Given the description of an element on the screen output the (x, y) to click on. 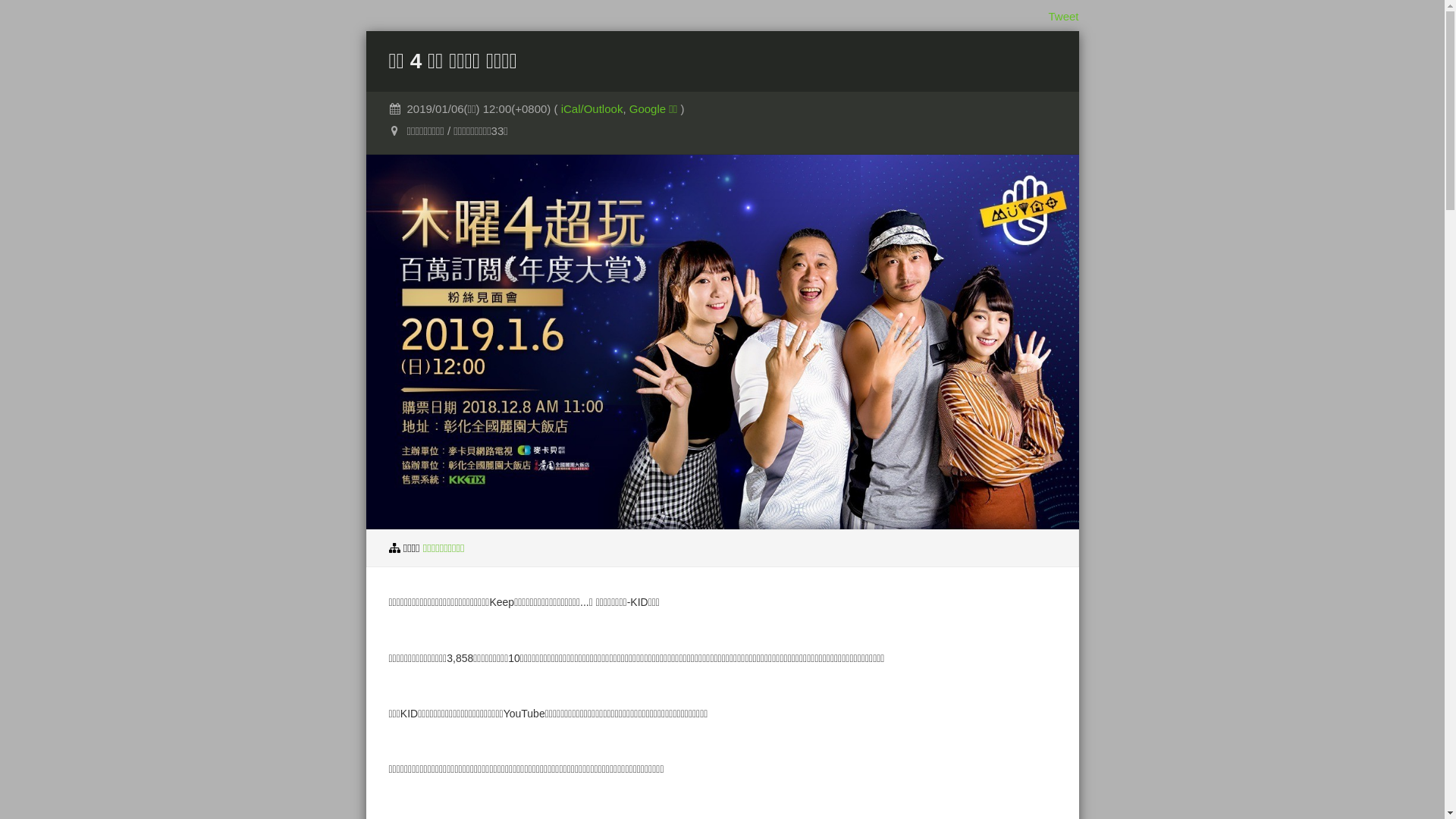
Tweet Element type: text (1063, 15)
iCal/Outlook Element type: text (592, 108)
